Given the description of an element on the screen output the (x, y) to click on. 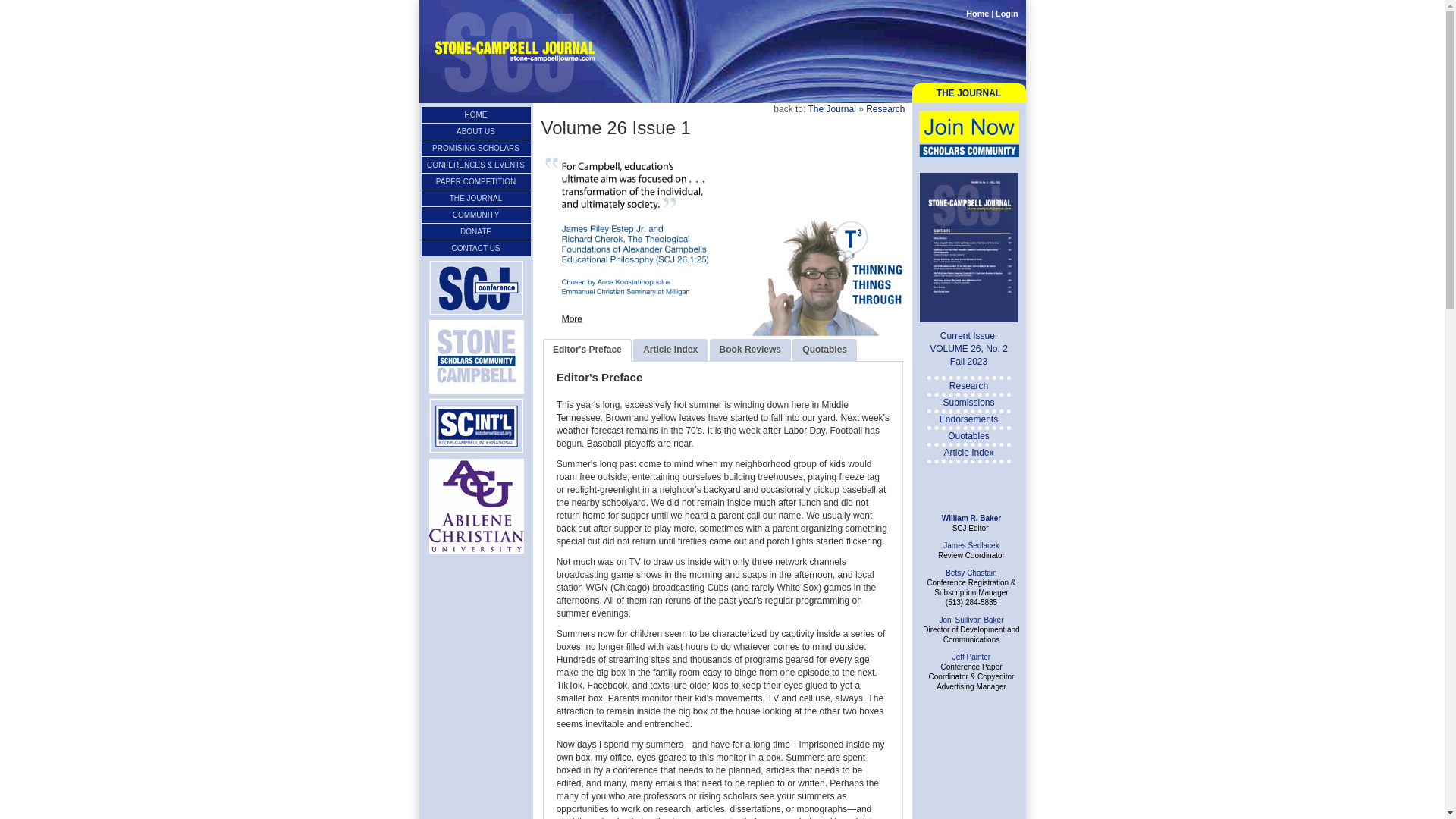
ABOUT US (476, 131)
HOME (476, 114)
PAPER COMPETITION (476, 181)
The Journal (832, 109)
Home (977, 13)
Research (885, 109)
THE JOURNAL (968, 93)
THE JOURNAL (476, 198)
PROMISING SCHOLARS (476, 148)
Login (1006, 13)
